Given the description of an element on the screen output the (x, y) to click on. 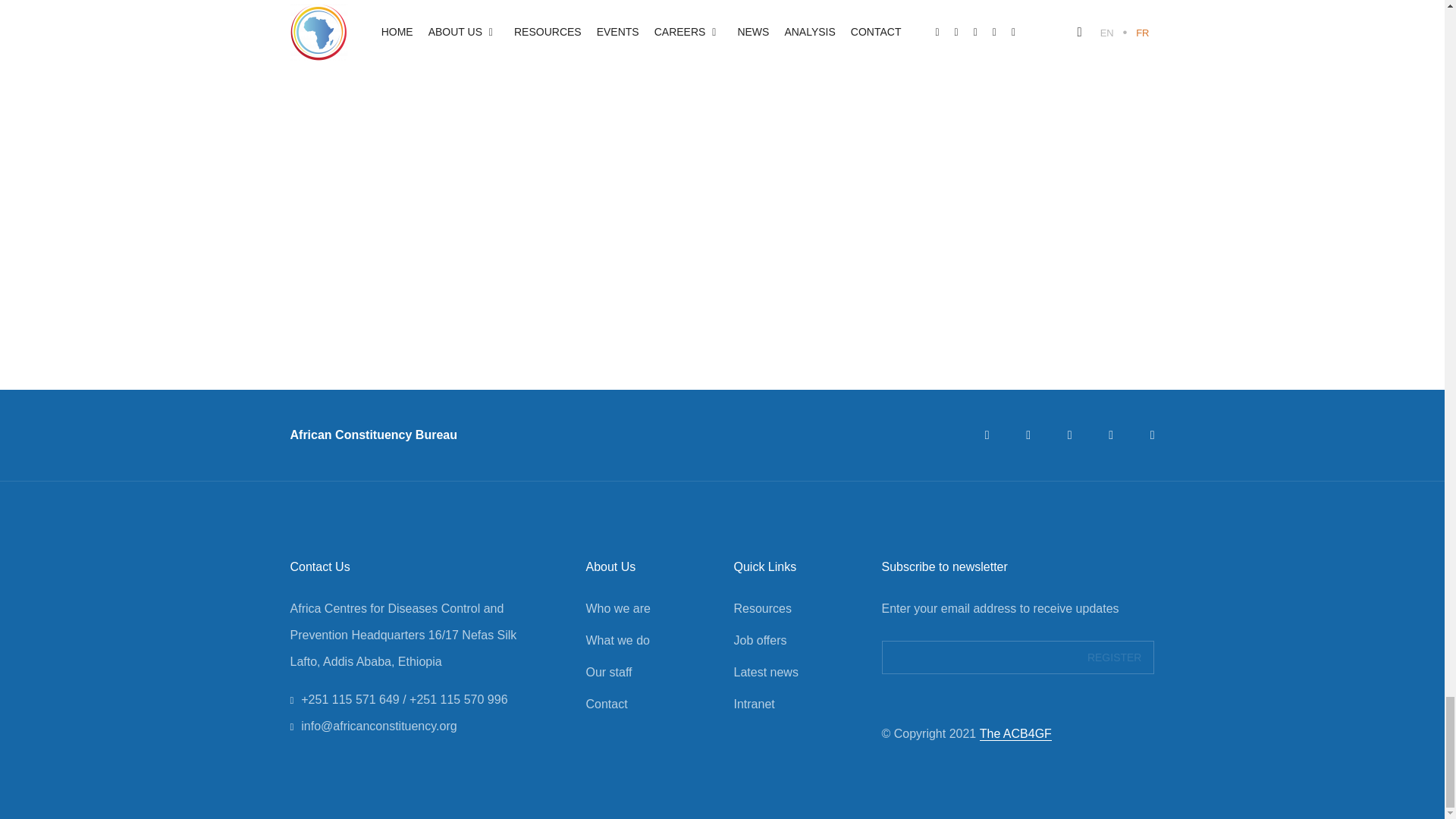
Register (1115, 657)
